Given the description of an element on the screen output the (x, y) to click on. 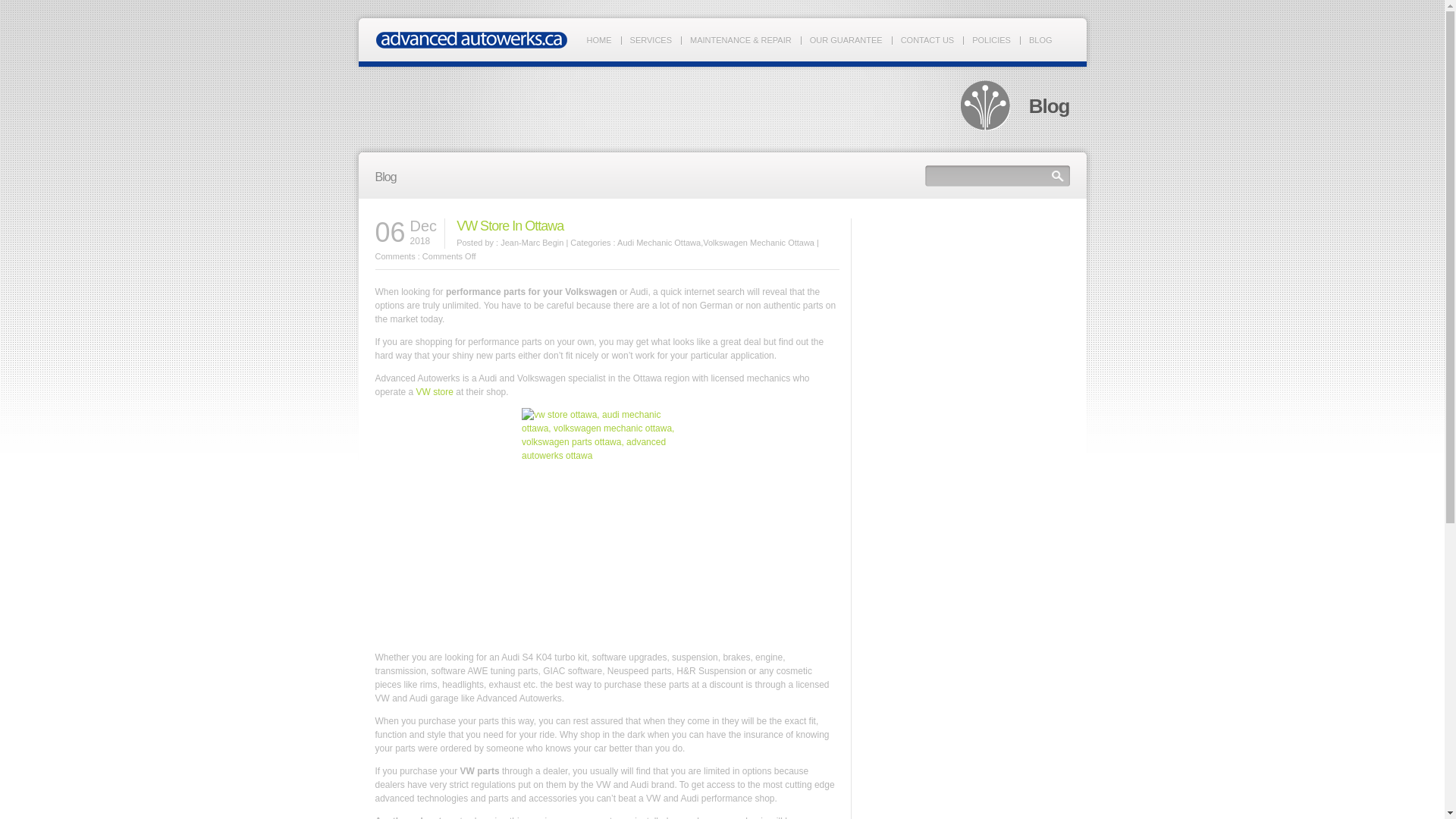
  Element type: text (444, 291)
Jean-Marc Begin Element type: text (531, 242)
SERVICES Element type: text (650, 39)
MAINTENANCE & REPAIR Element type: text (740, 39)
VW store Element type: text (434, 391)
CONTACT US Element type: text (927, 39)
OUR GUARANTEE Element type: text (845, 39)
BLOG Element type: text (1040, 39)
POLICIES Element type: text (991, 39)
Audi Mechanic Ottawa Element type: text (658, 242)
Volkswagen Mechanic Ottawa Element type: text (758, 242)
HOME Element type: text (598, 39)
